Given the description of an element on the screen output the (x, y) to click on. 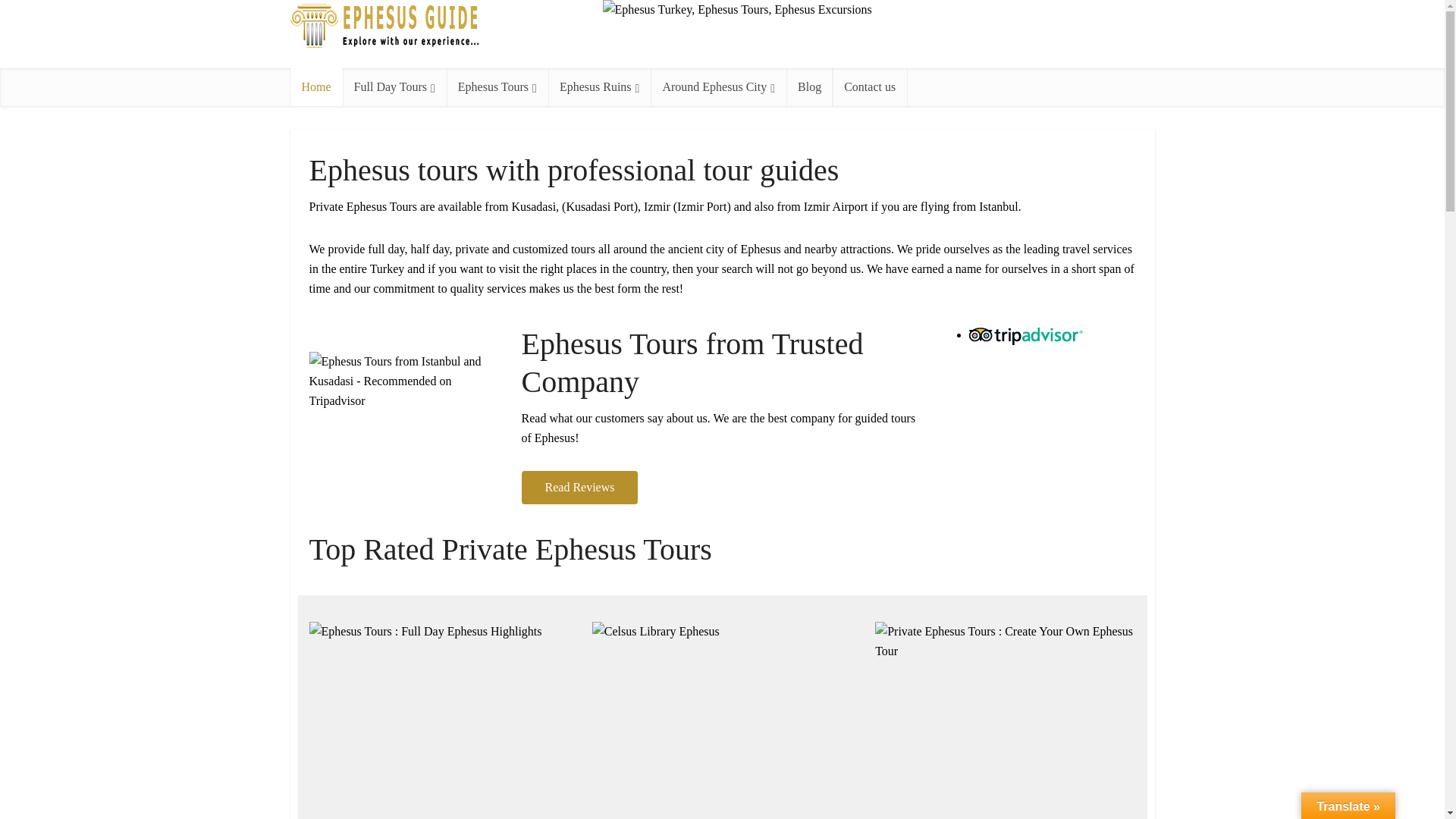
Full Day Tours (394, 86)
Ephesus Tours (497, 86)
Home (315, 86)
